Given the description of an element on the screen output the (x, y) to click on. 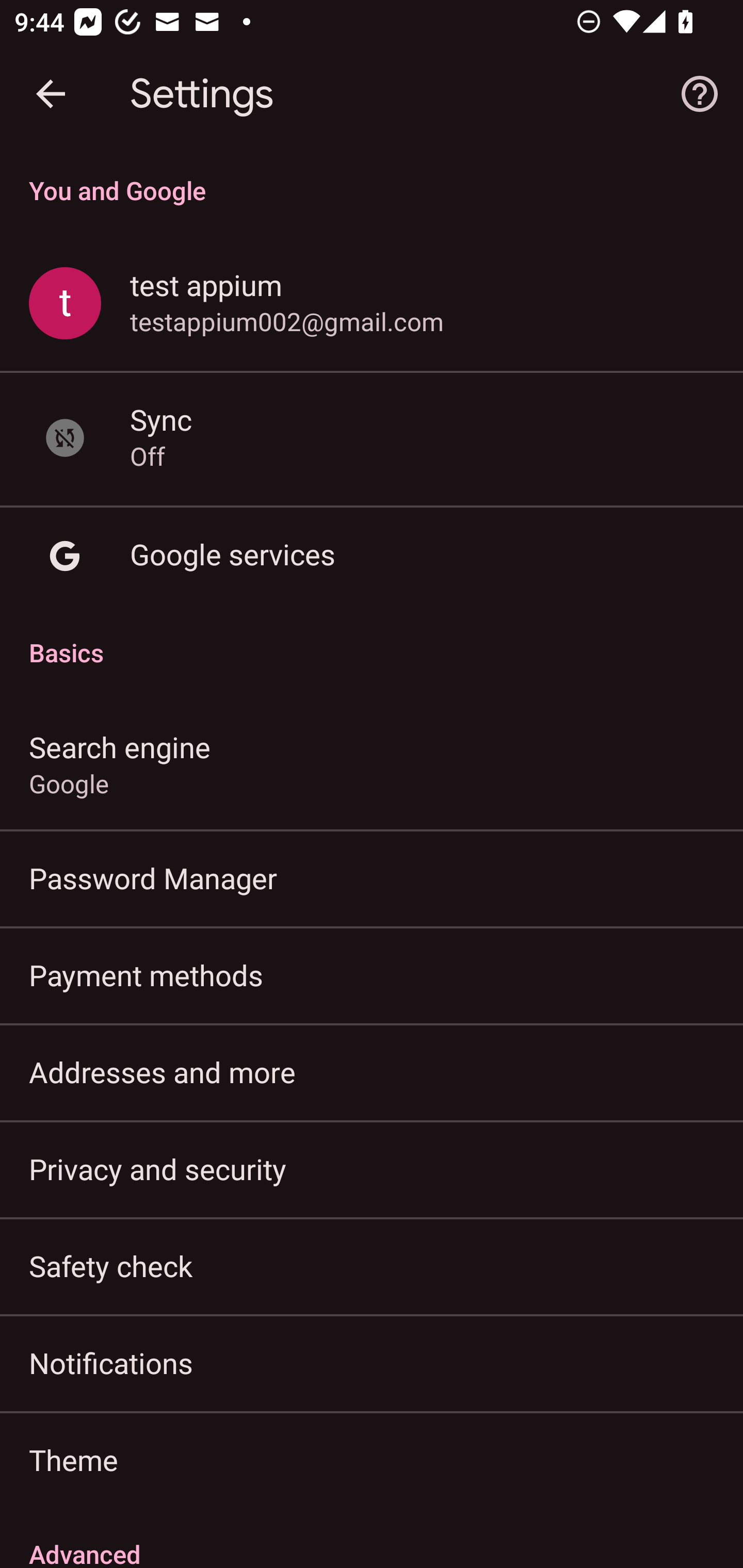
Navigate up (50, 93)
Help & feedback (699, 93)
test appium testappium002@gmail.com (371, 303)
Sync Off (371, 437)
Google services (371, 555)
Search engine Google (371, 763)
Password Manager (371, 877)
Payment methods (371, 974)
Addresses and more (371, 1071)
Privacy and security (371, 1167)
Safety check (371, 1264)
Notifications (371, 1362)
Theme (371, 1459)
